Given the description of an element on the screen output the (x, y) to click on. 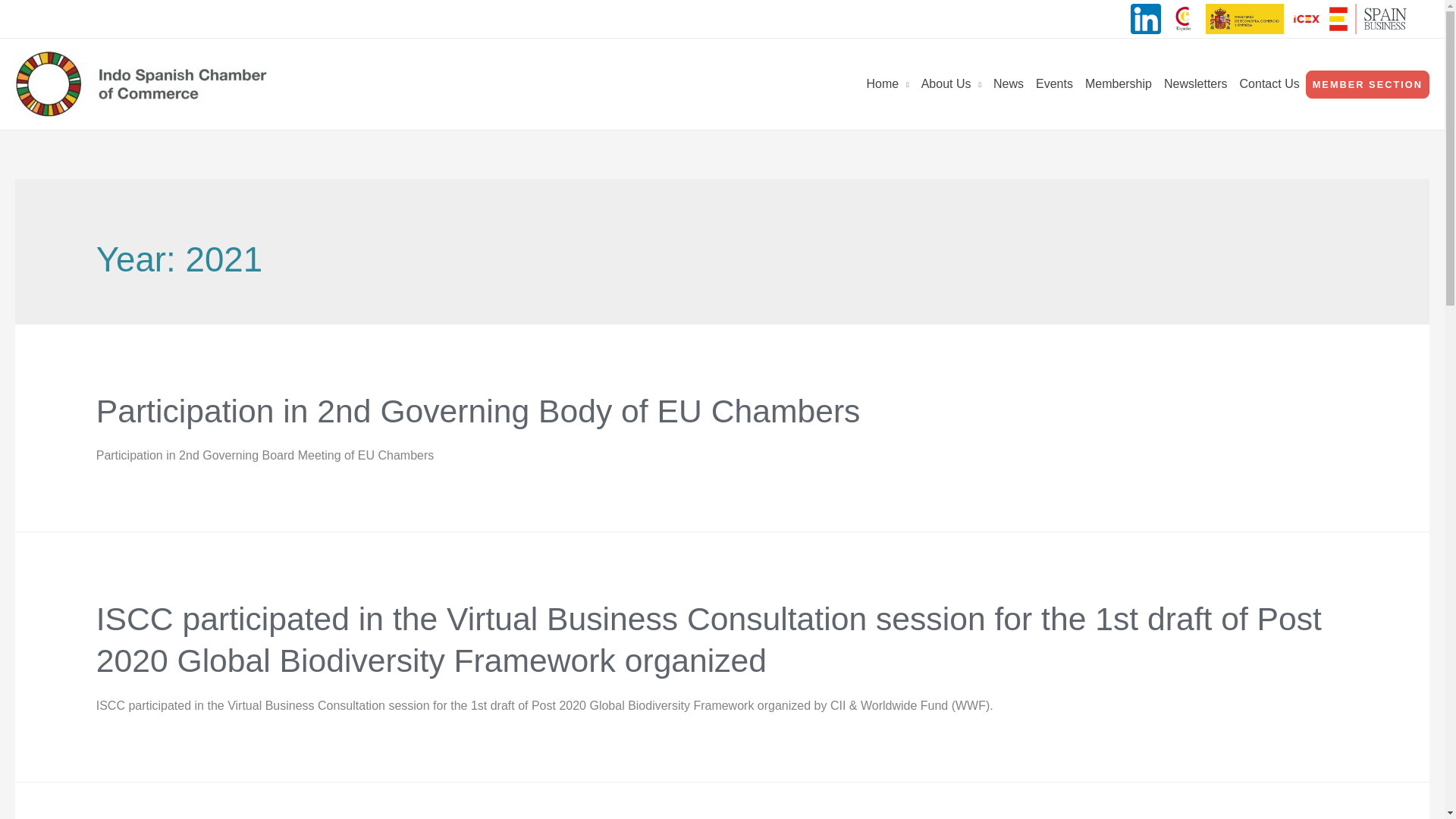
MEMBER SECTION (1367, 83)
Newsletters (1195, 83)
Home (887, 83)
About Us (951, 83)
Contact Us (1269, 83)
Membership (1117, 83)
Events (1053, 83)
